Given the description of an element on the screen output the (x, y) to click on. 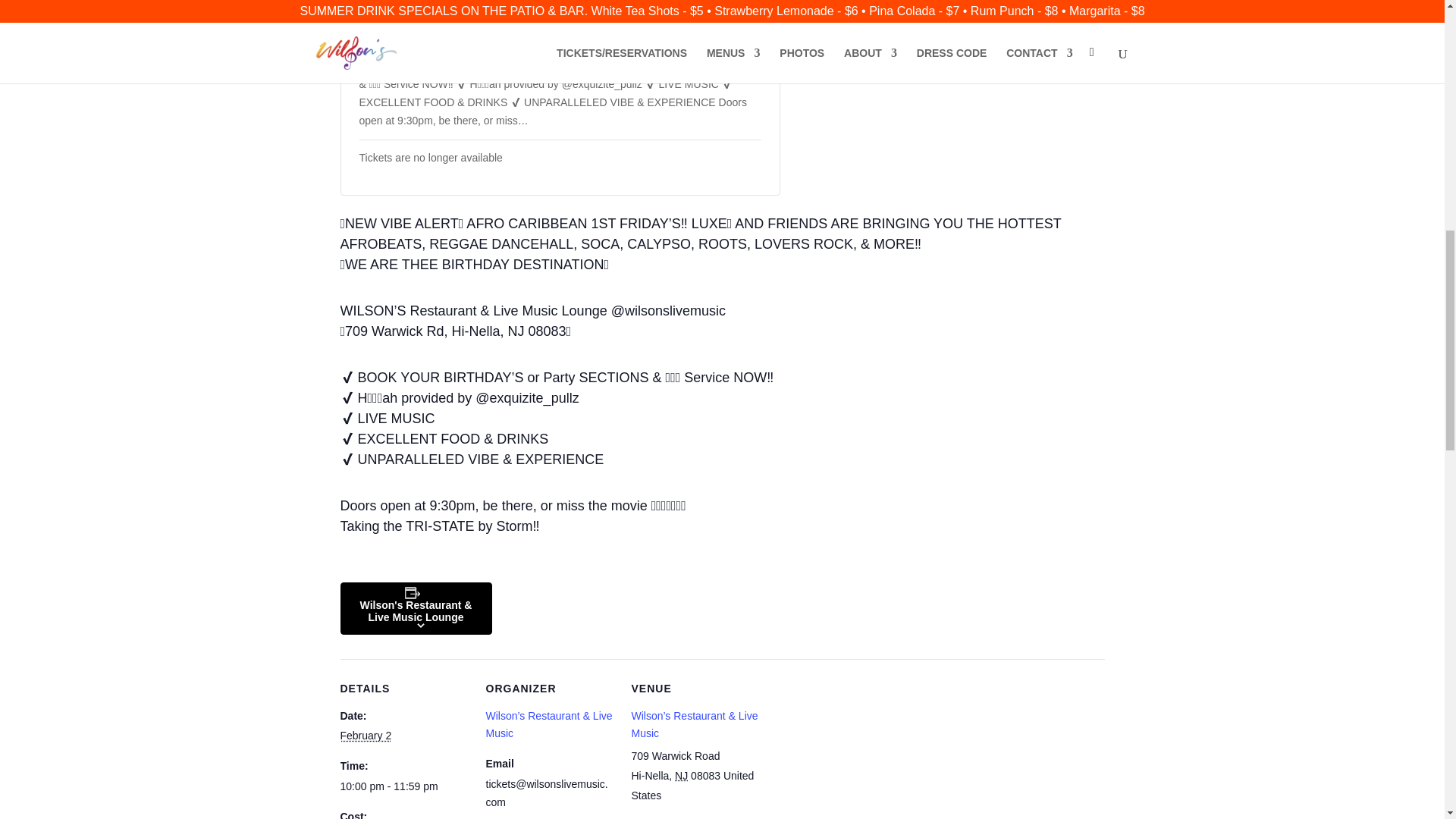
New Jersey (681, 775)
2024-02-02 (365, 735)
2024-02-02 (403, 787)
